Given the description of an element on the screen output the (x, y) to click on. 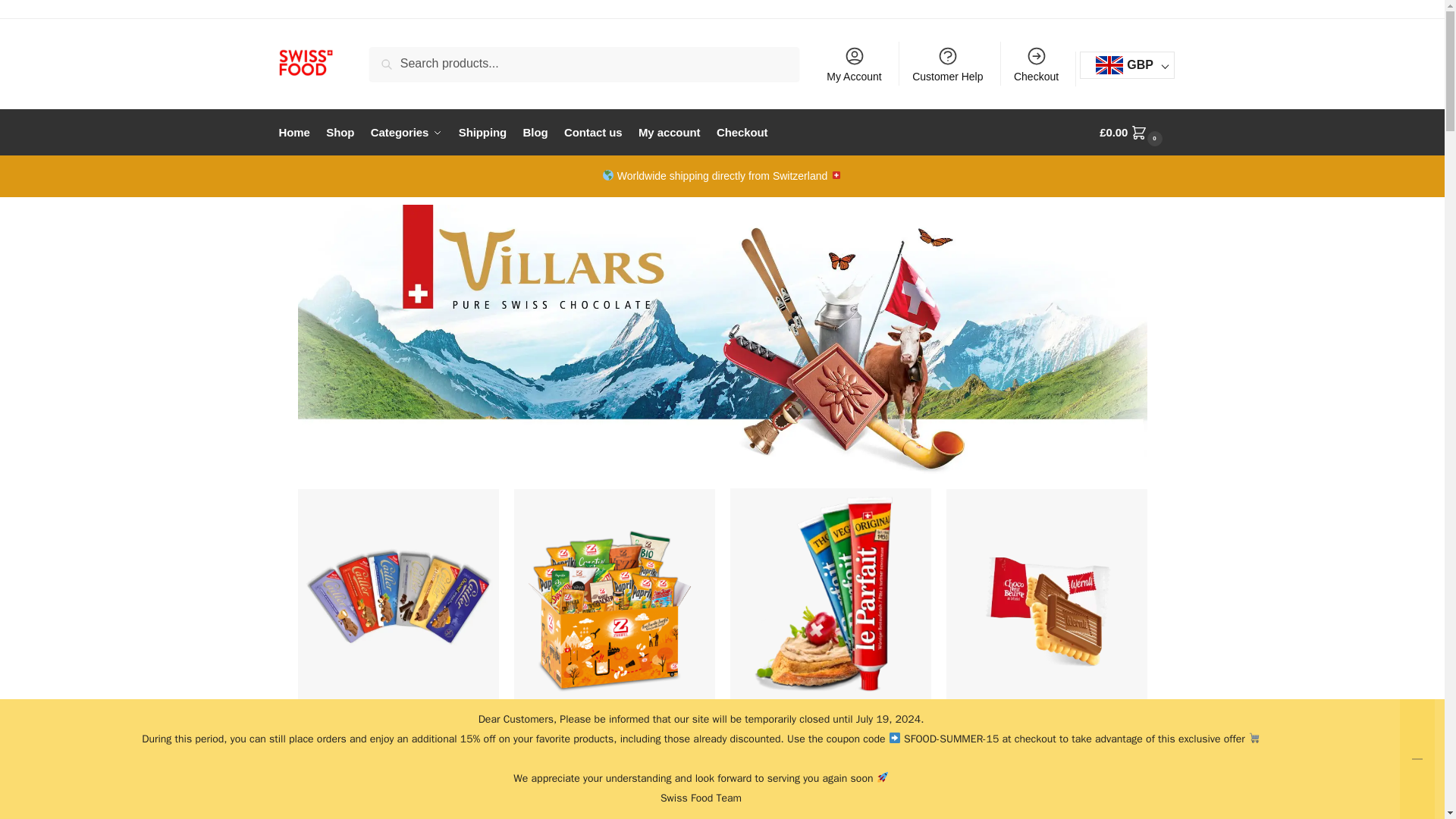
Search (392, 56)
My Account (853, 63)
Checkout (1036, 63)
Customer Help (947, 63)
